Given the description of an element on the screen output the (x, y) to click on. 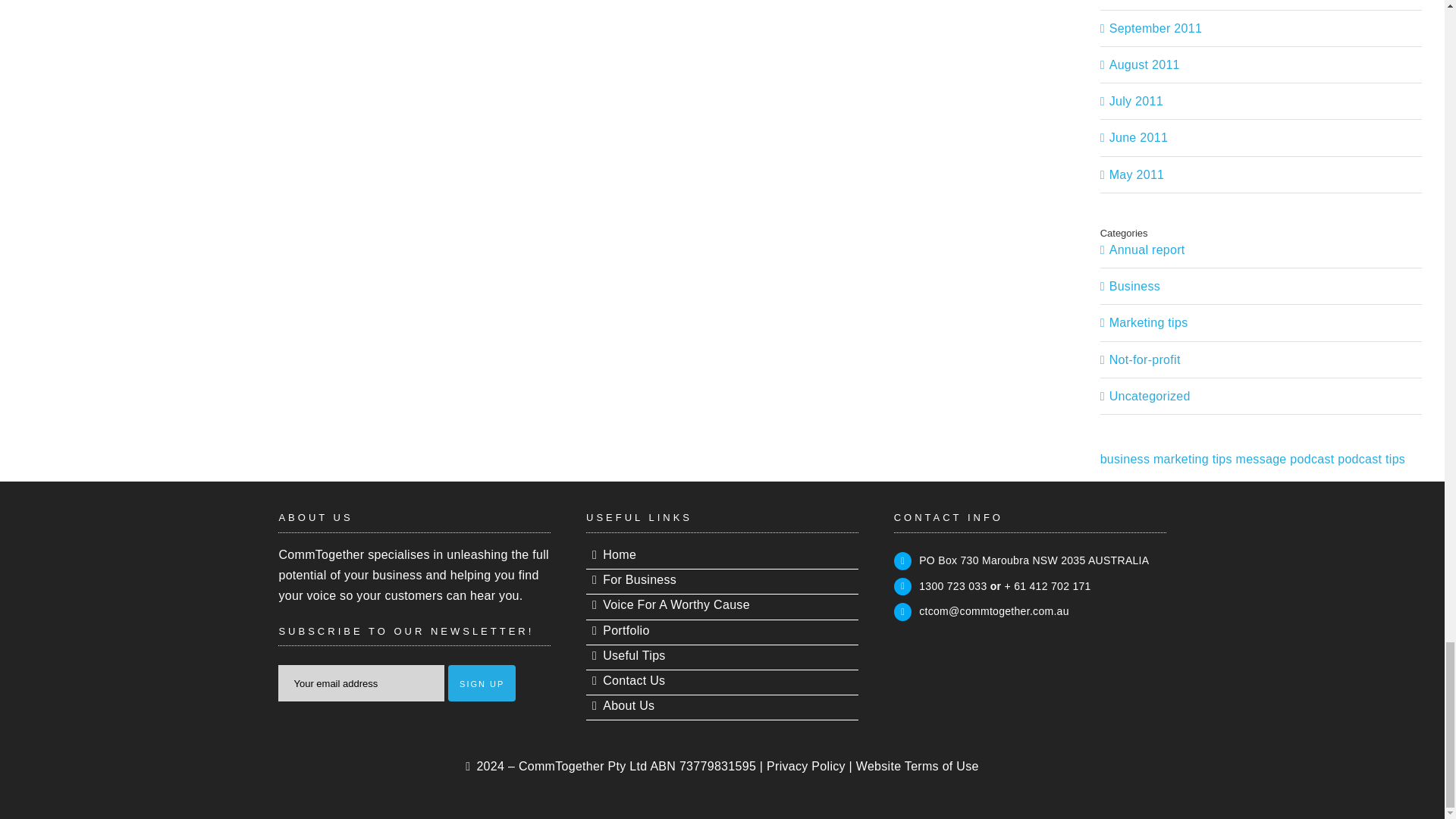
Sign up (481, 683)
